Given the description of an element on the screen output the (x, y) to click on. 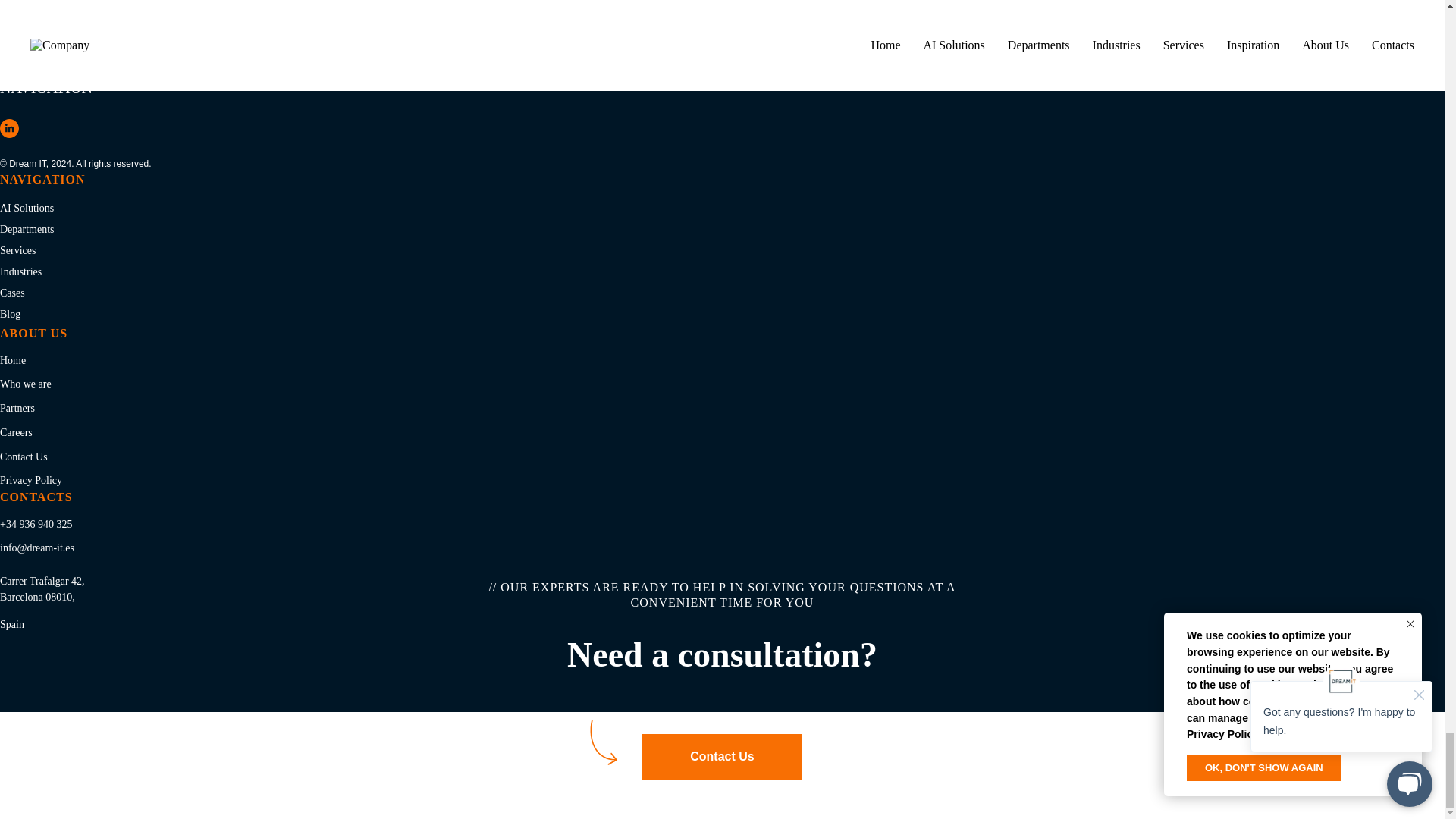
LinkedIn (9, 128)
